Given the description of an element on the screen output the (x, y) to click on. 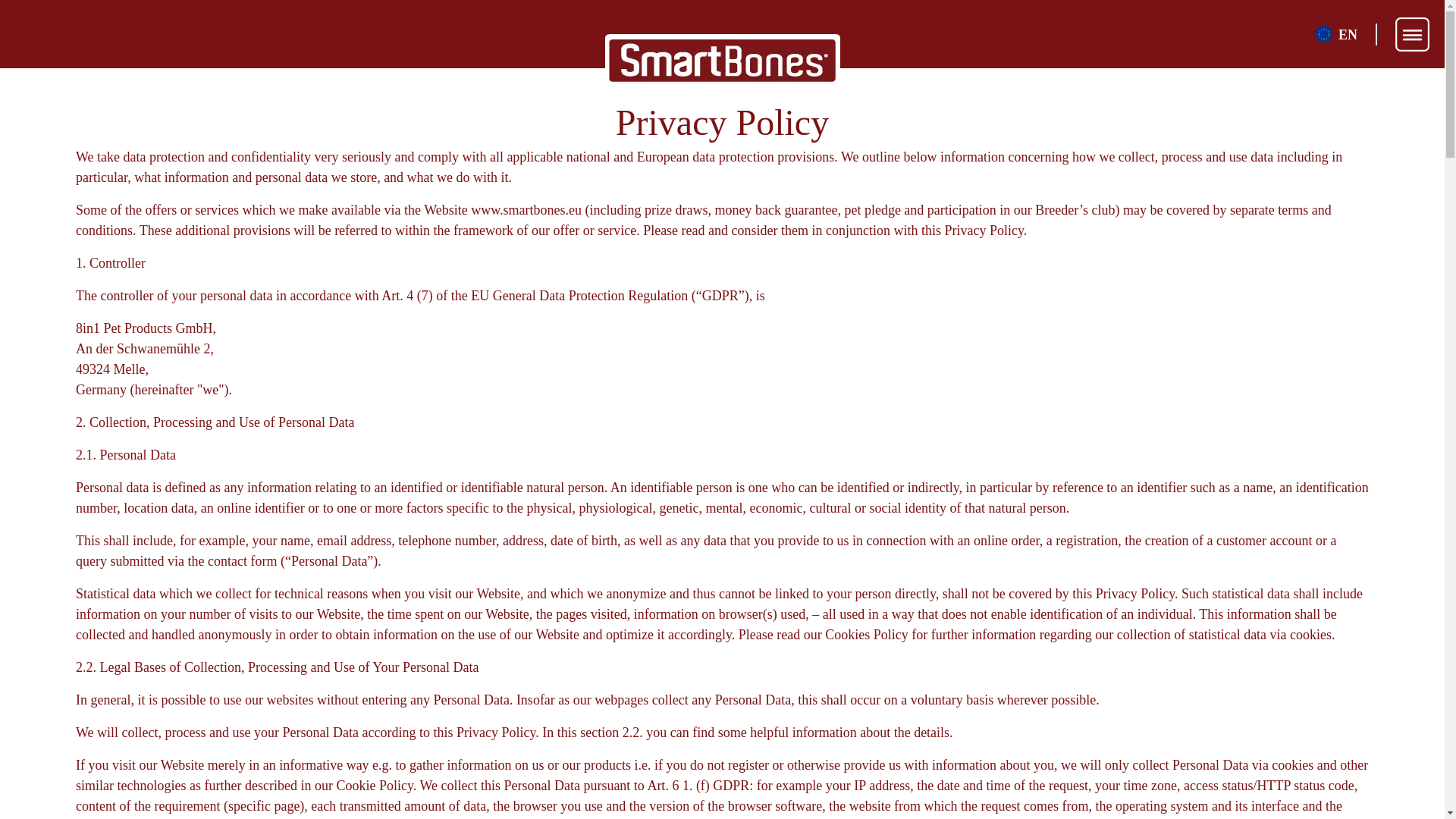
www.smartbones.eu (525, 209)
